Given the description of an element on the screen output the (x, y) to click on. 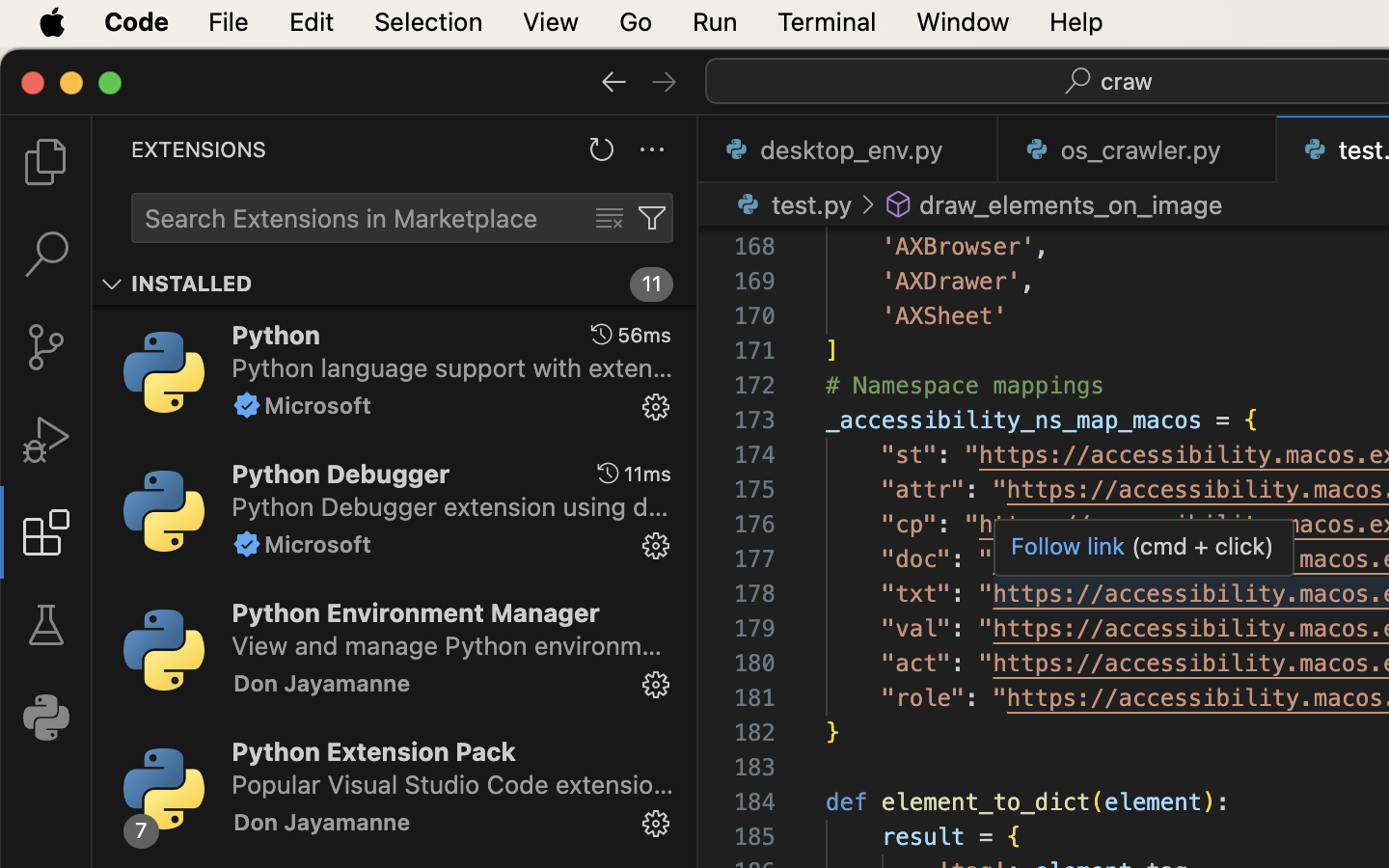
View and manage Python environments & packages. Element type: AXStaticText (447, 644)
 Element type: AXButton (664, 80)
(cmd + click) Follow link Element type: AXGroup (1143, 545)
 Element type: AXGroup (46, 624)
0  Element type: AXRadioButton (46, 161)
